Given the description of an element on the screen output the (x, y) to click on. 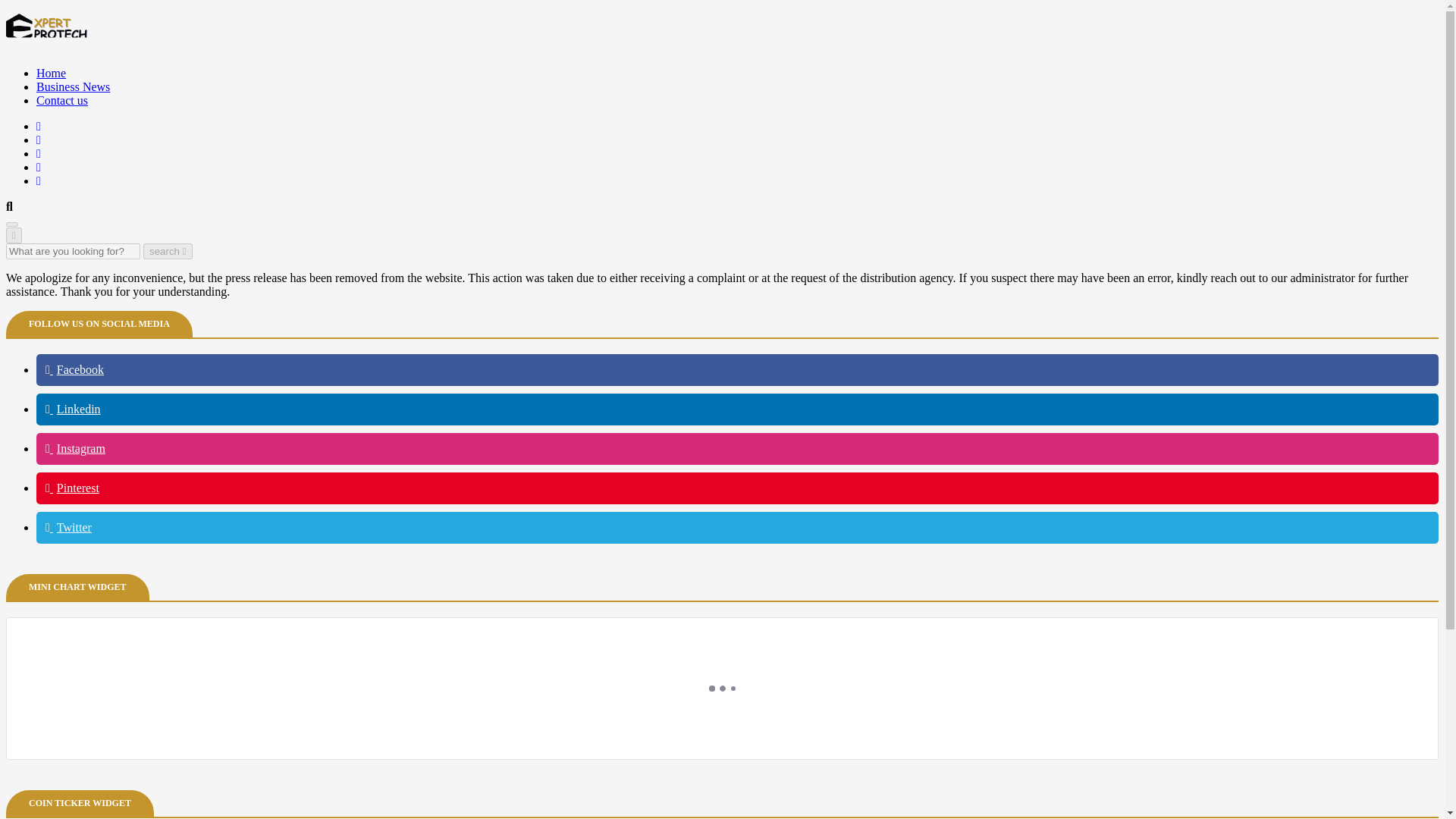
Contact us (61, 100)
Home (50, 72)
Business News (73, 86)
search (167, 251)
